Given the description of an element on the screen output the (x, y) to click on. 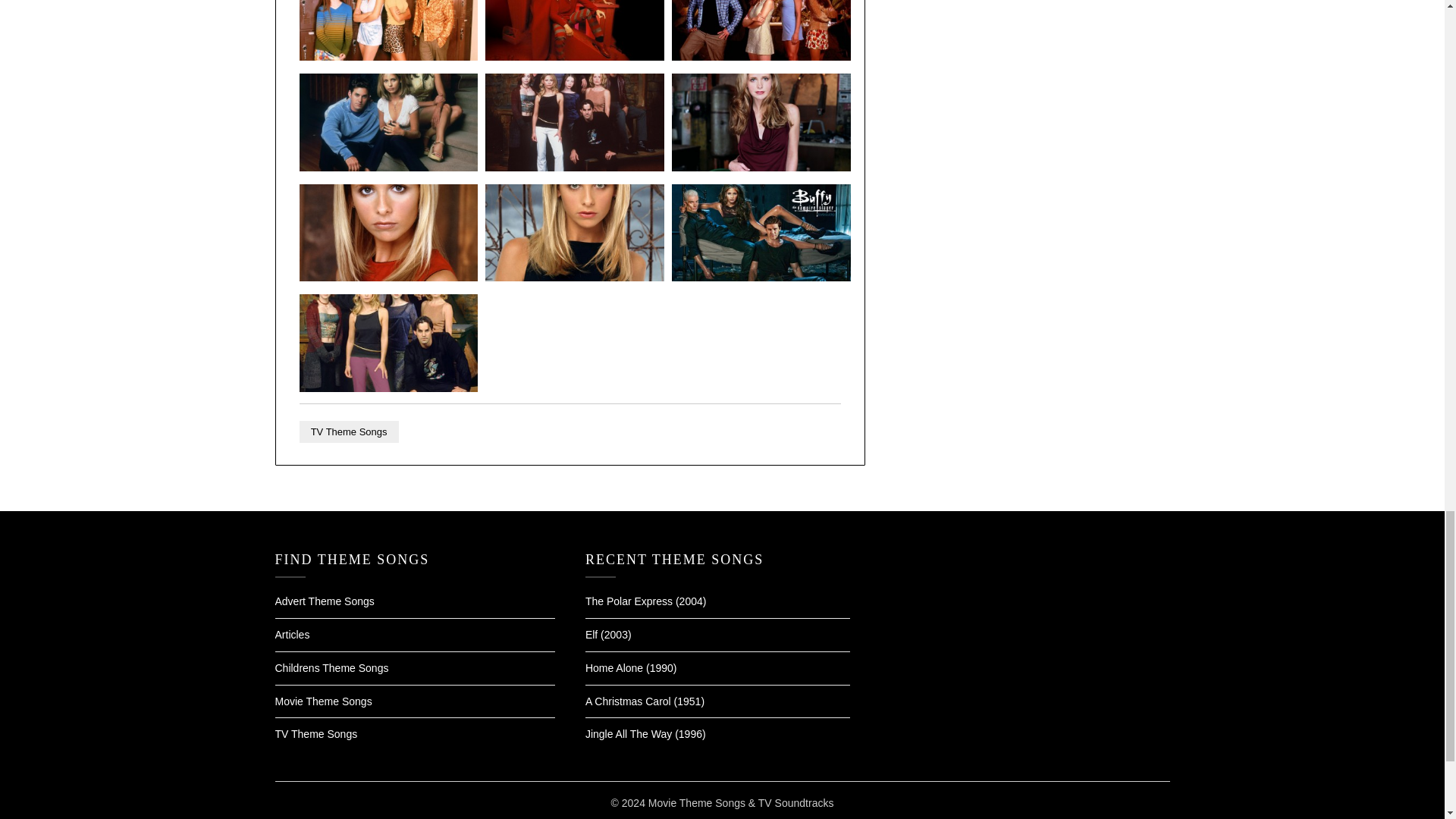
Buffy the Vampire Slayer (573, 277)
Buffy the Vampire Slayer (760, 277)
Buffy the Vampire Slayer (389, 277)
Buffy the Vampire Slayer (760, 56)
Buffy the Vampire Slayer (389, 166)
Buffy the Vampire Slayer (573, 56)
Buffy the Vampire Slayer (389, 387)
Buffy the Vampire Slayer (760, 166)
Buffy the Vampire Slayer (389, 56)
Buffy the Vampire Slayer (573, 166)
TV Theme Songs (348, 431)
